Given the description of an element on the screen output the (x, y) to click on. 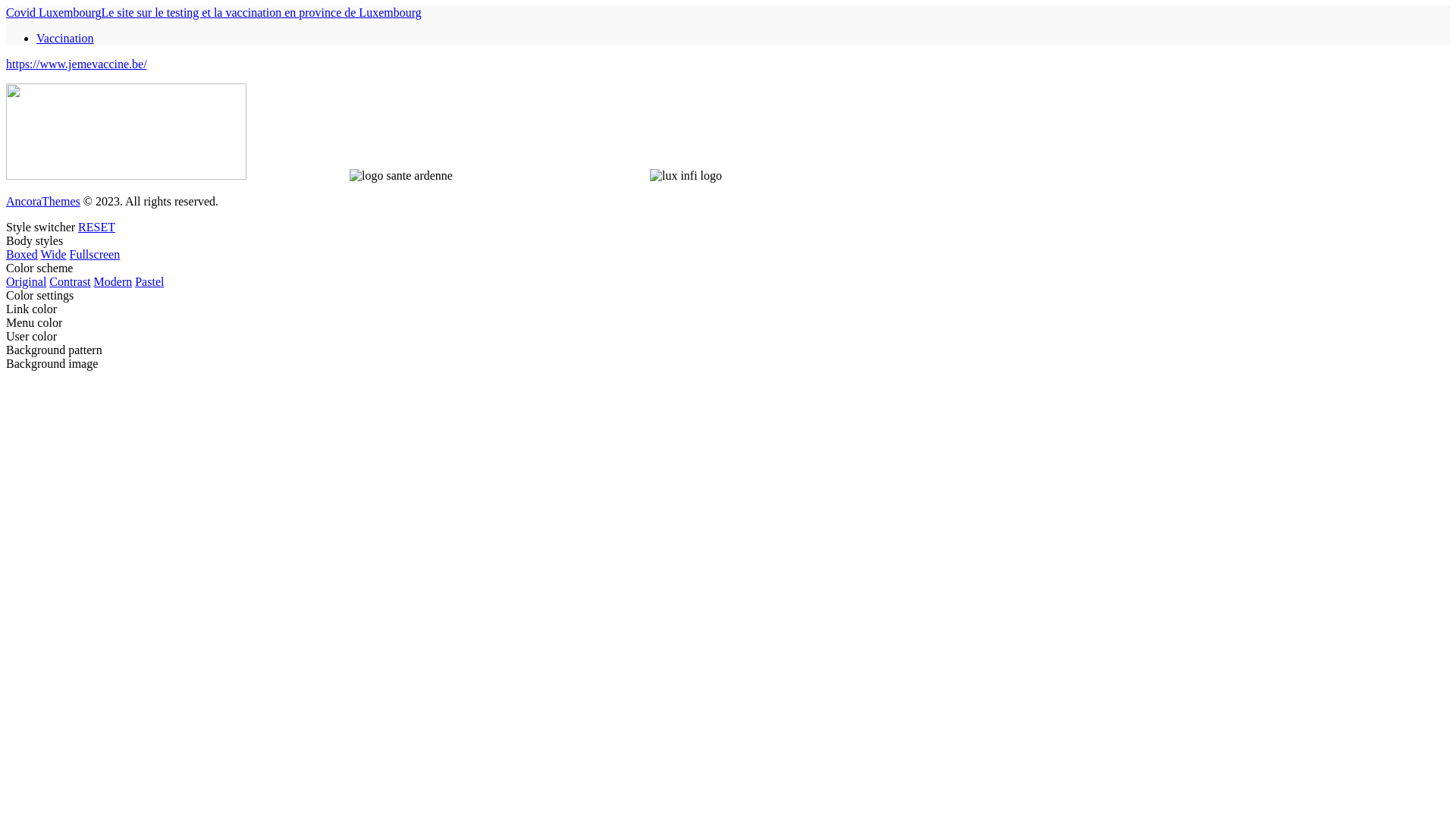
RESET Element type: text (96, 226)
Original Element type: text (26, 281)
AncoraThemes Element type: text (43, 200)
Vaccination Element type: text (65, 37)
Contrast Element type: text (69, 281)
Pastel Element type: text (148, 281)
https://www.jemevaccine.be/ Element type: text (76, 63)
Fullscreen Element type: text (94, 253)
Boxed Element type: text (21, 253)
Wide Element type: text (53, 253)
Modern Element type: text (113, 281)
